Given the description of an element on the screen output the (x, y) to click on. 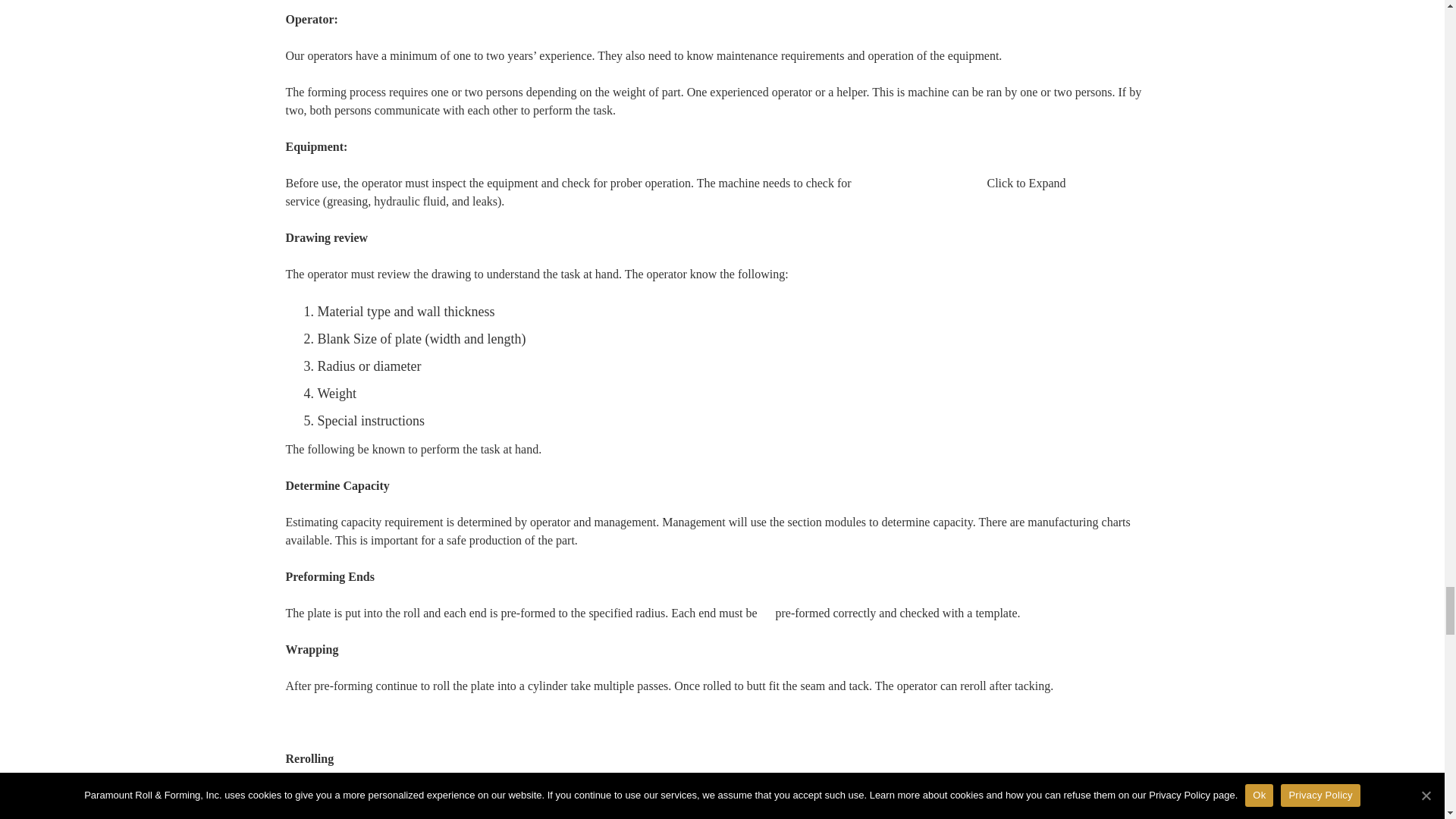
Plate Rolling Procedure (1025, 249)
